Given the description of an element on the screen output the (x, y) to click on. 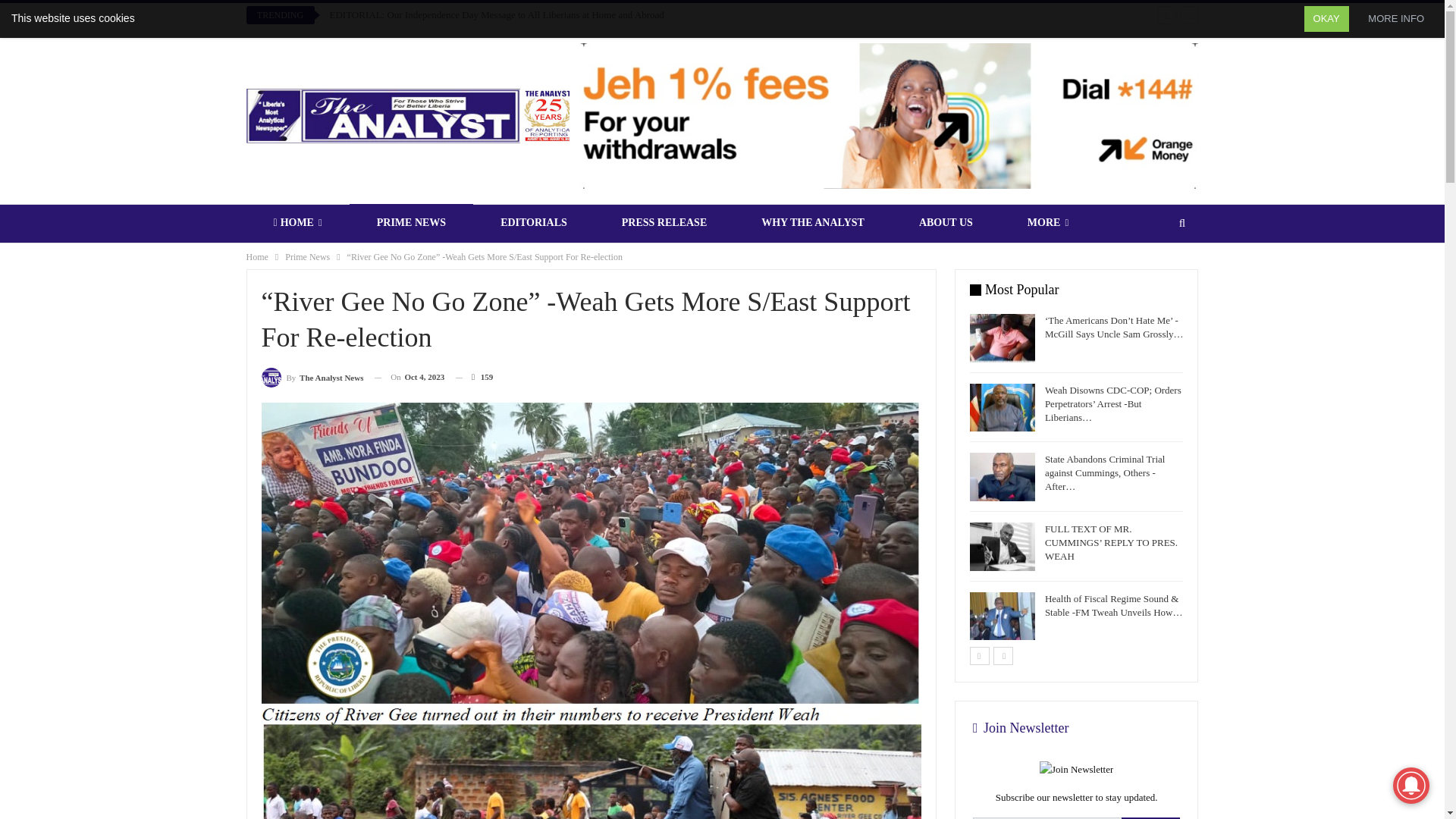
MORE (1048, 222)
PRESS RELEASE (663, 222)
WHY THE ANALYST (812, 222)
ABOUT US (945, 222)
Browse Author Articles (311, 376)
By The Analyst News (311, 376)
PRIME NEWS (411, 222)
HOME (297, 222)
Home (256, 256)
Prime News (307, 256)
EDITORIALS (533, 222)
